Given the description of an element on the screen output the (x, y) to click on. 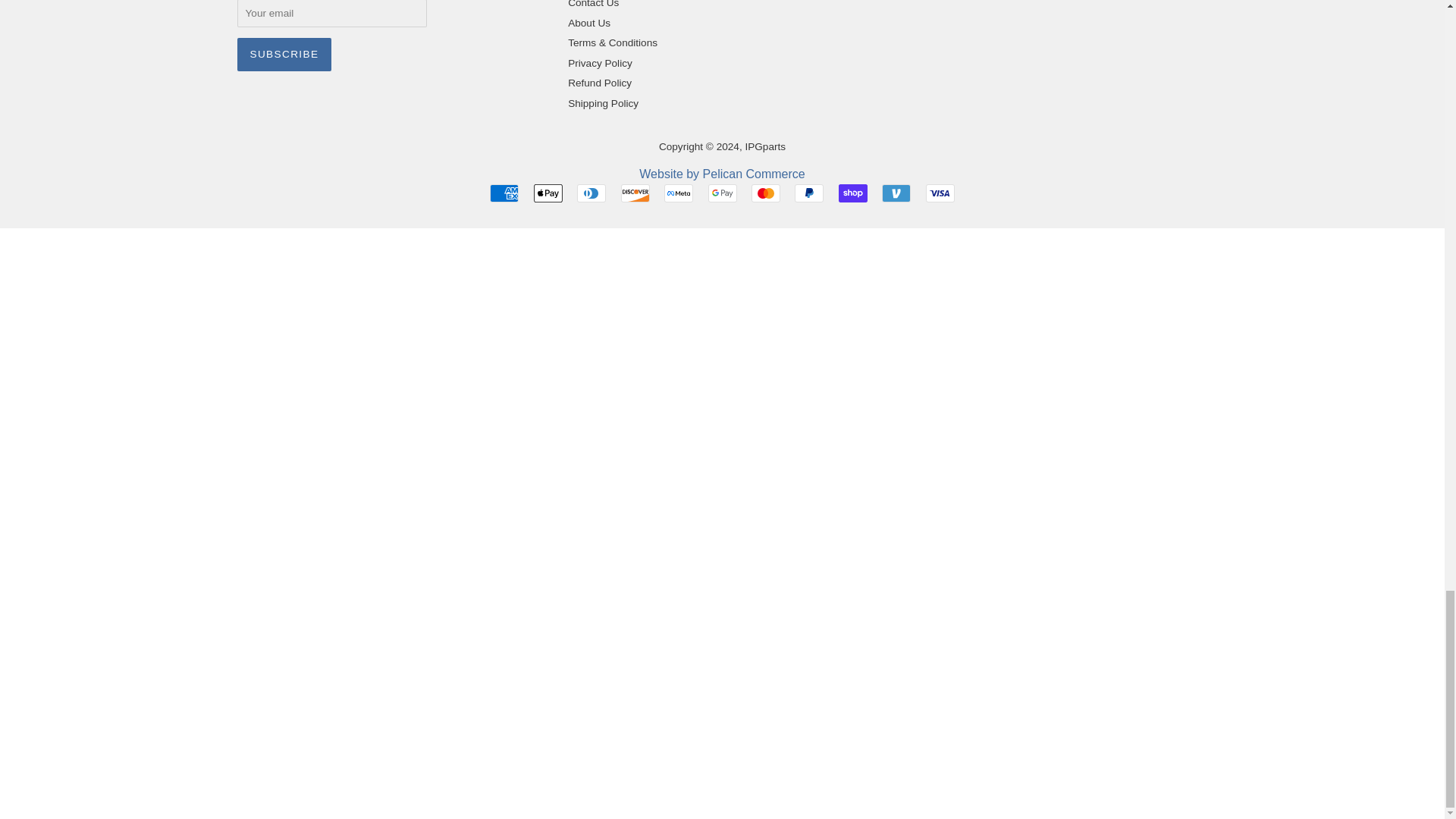
Mastercard (765, 193)
Visa (940, 193)
Venmo (896, 193)
Google Pay (721, 193)
PayPal (809, 193)
Apple Pay (548, 193)
Meta Pay (678, 193)
Diners Club (590, 193)
Subscribe (283, 54)
Shop Pay (852, 193)
American Express (503, 193)
Discover (635, 193)
